Given the description of an element on the screen output the (x, y) to click on. 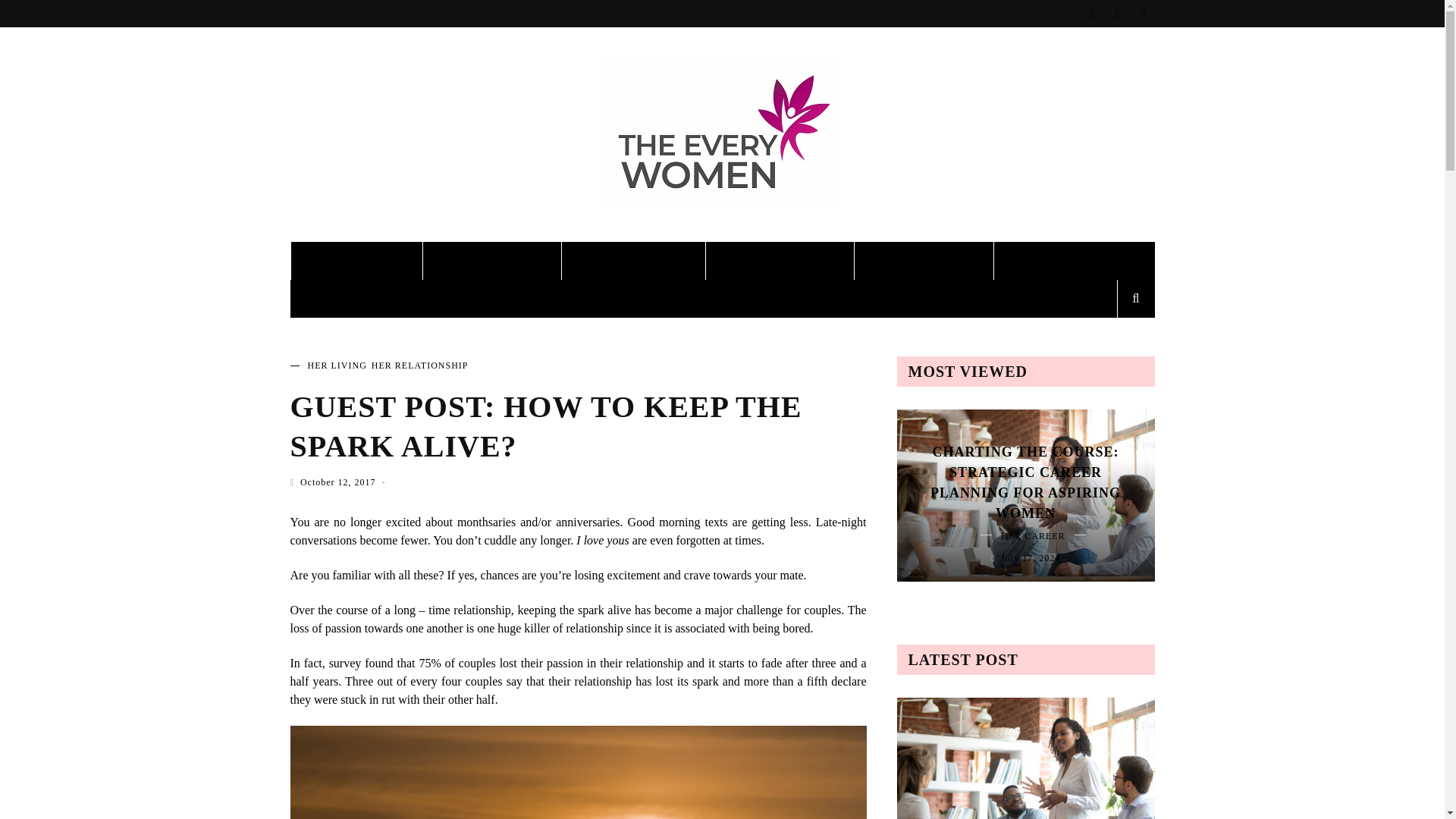
HER BUSINESS (779, 260)
HER LIVING (356, 260)
HER HEALTH (491, 260)
HER FASHION (633, 260)
HER CAREER (923, 260)
CONTRIBUTE (1064, 260)
